Given the description of an element on the screen output the (x, y) to click on. 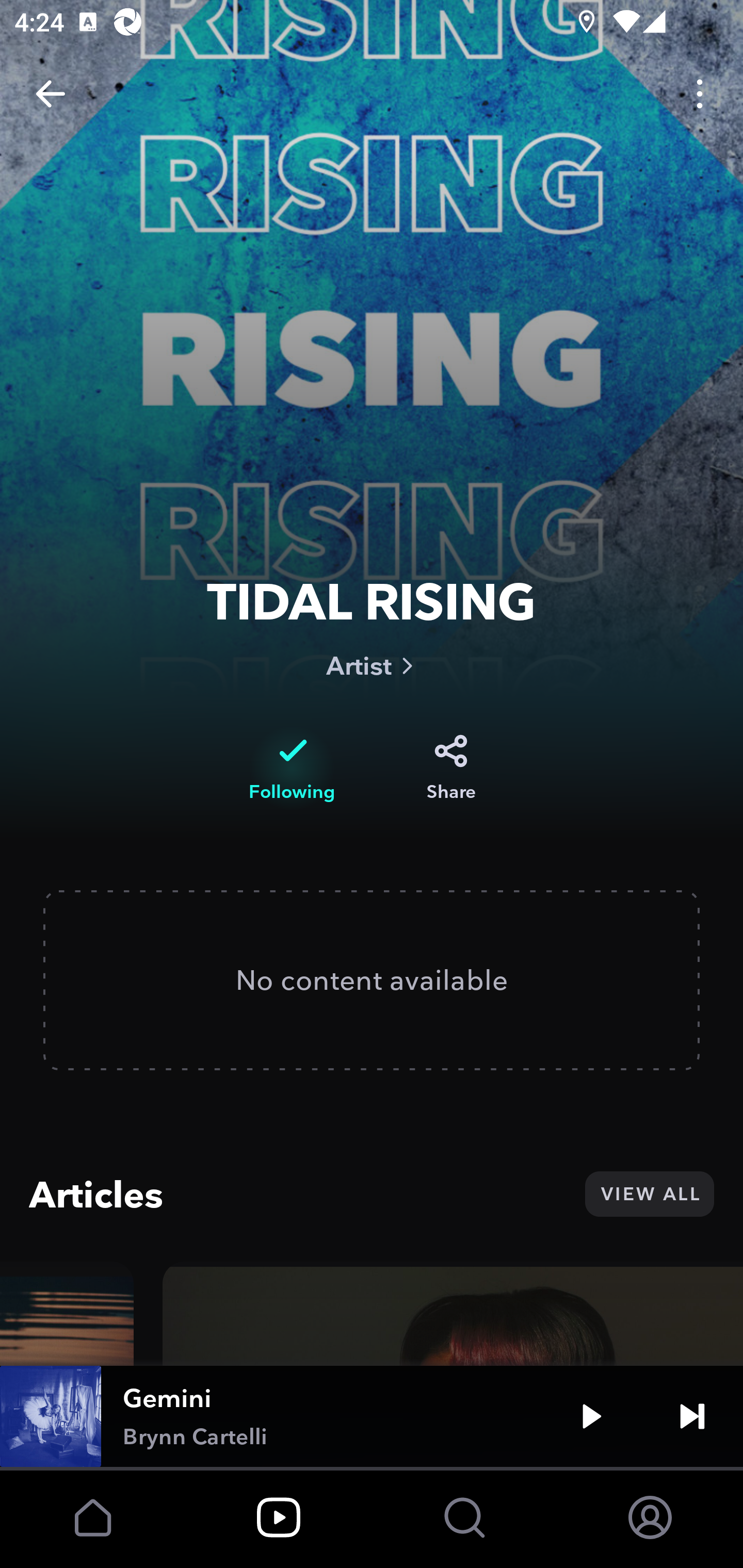
Options (699, 93)
Artist (371, 665)
Following (291, 767)
Share (450, 767)
VIEW ALL (649, 1193)
Gemini Brynn Cartelli Play (371, 1416)
Play (590, 1416)
